Given the description of an element on the screen output the (x, y) to click on. 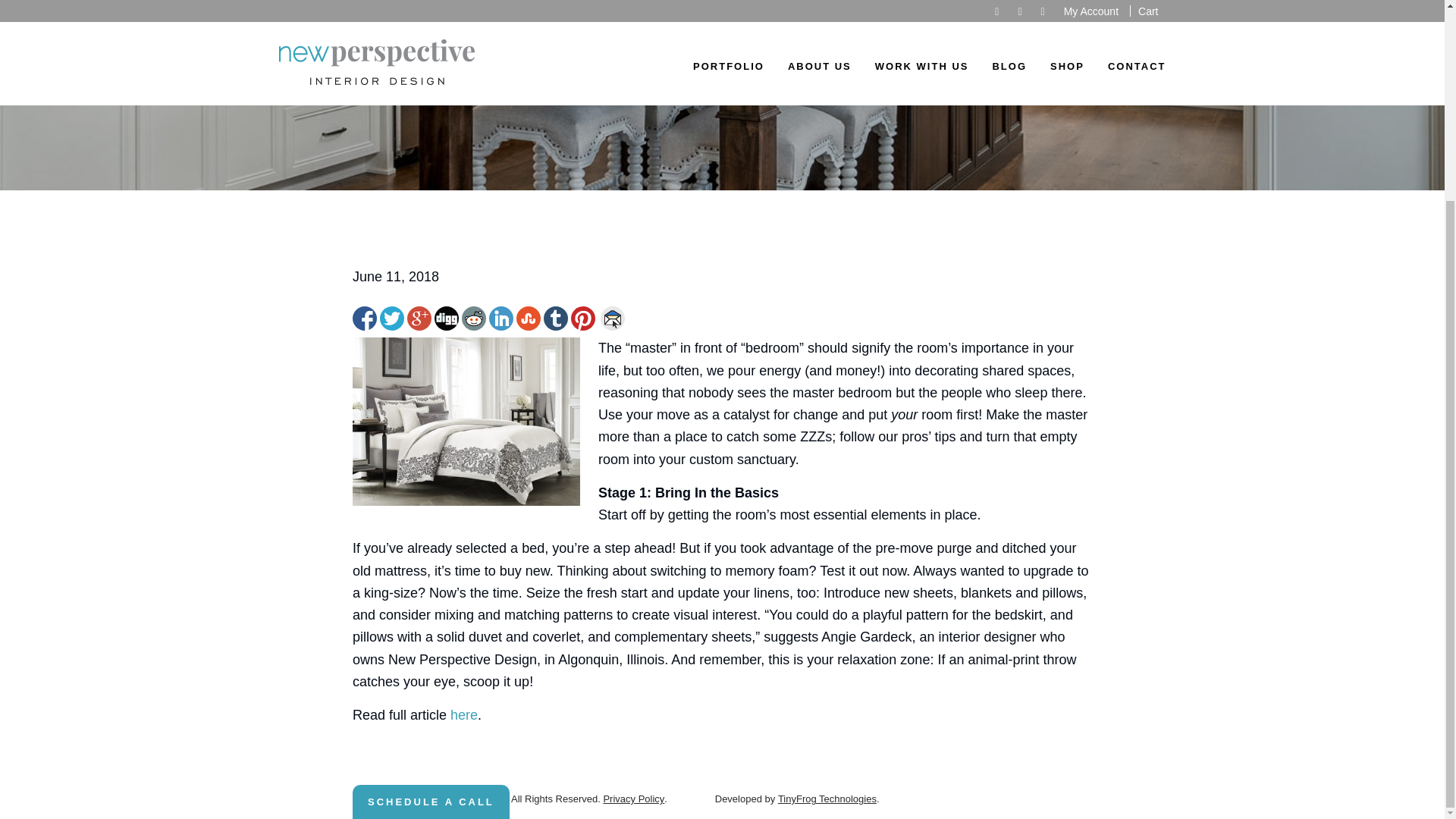
Privacy Policy (632, 798)
here (463, 714)
TinyFrog Technologies (826, 798)
SCHEDULE A CALL (430, 546)
